Given the description of an element on the screen output the (x, y) to click on. 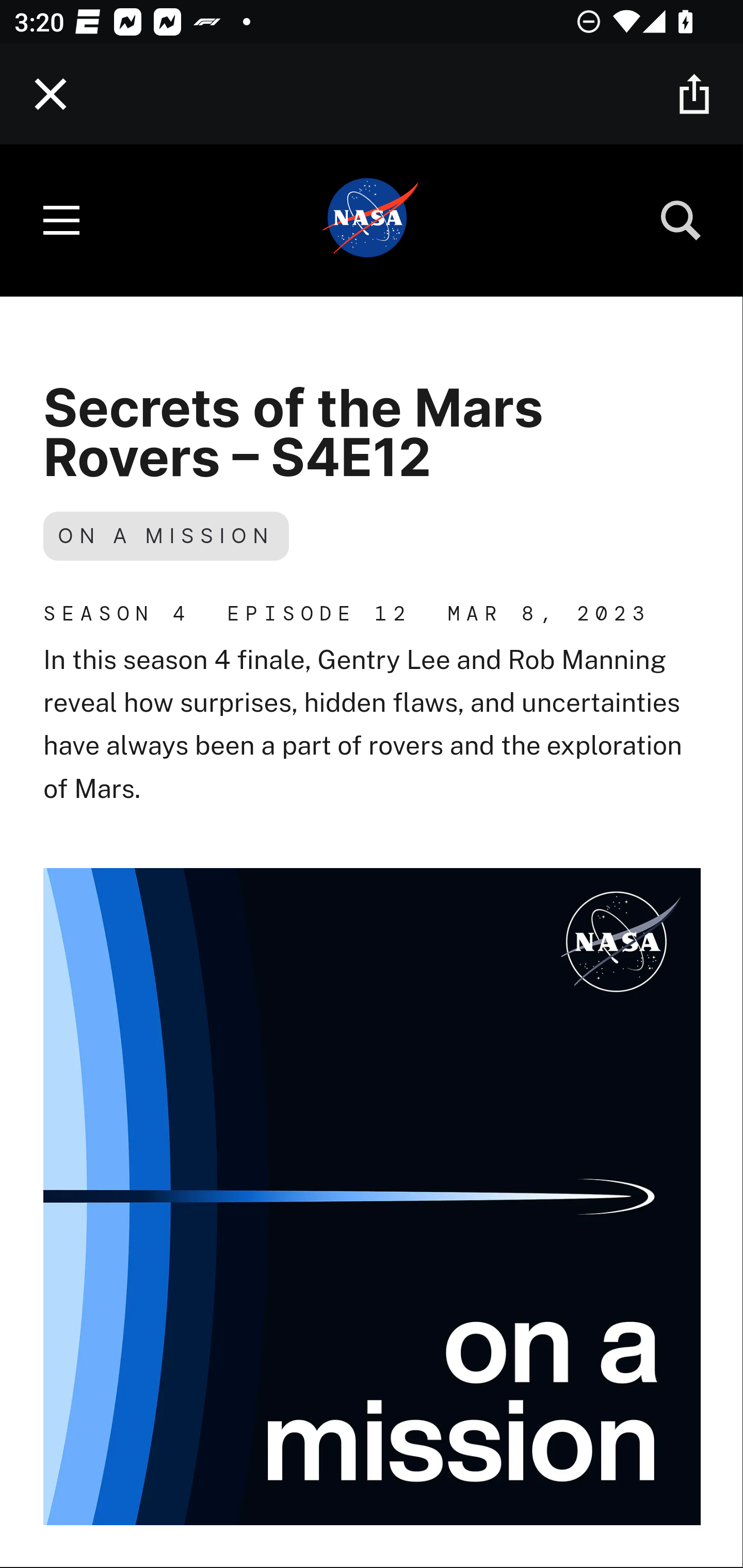
NASA Logo (371, 221)
ON A MISSION (166, 536)
